Given the description of an element on the screen output the (x, y) to click on. 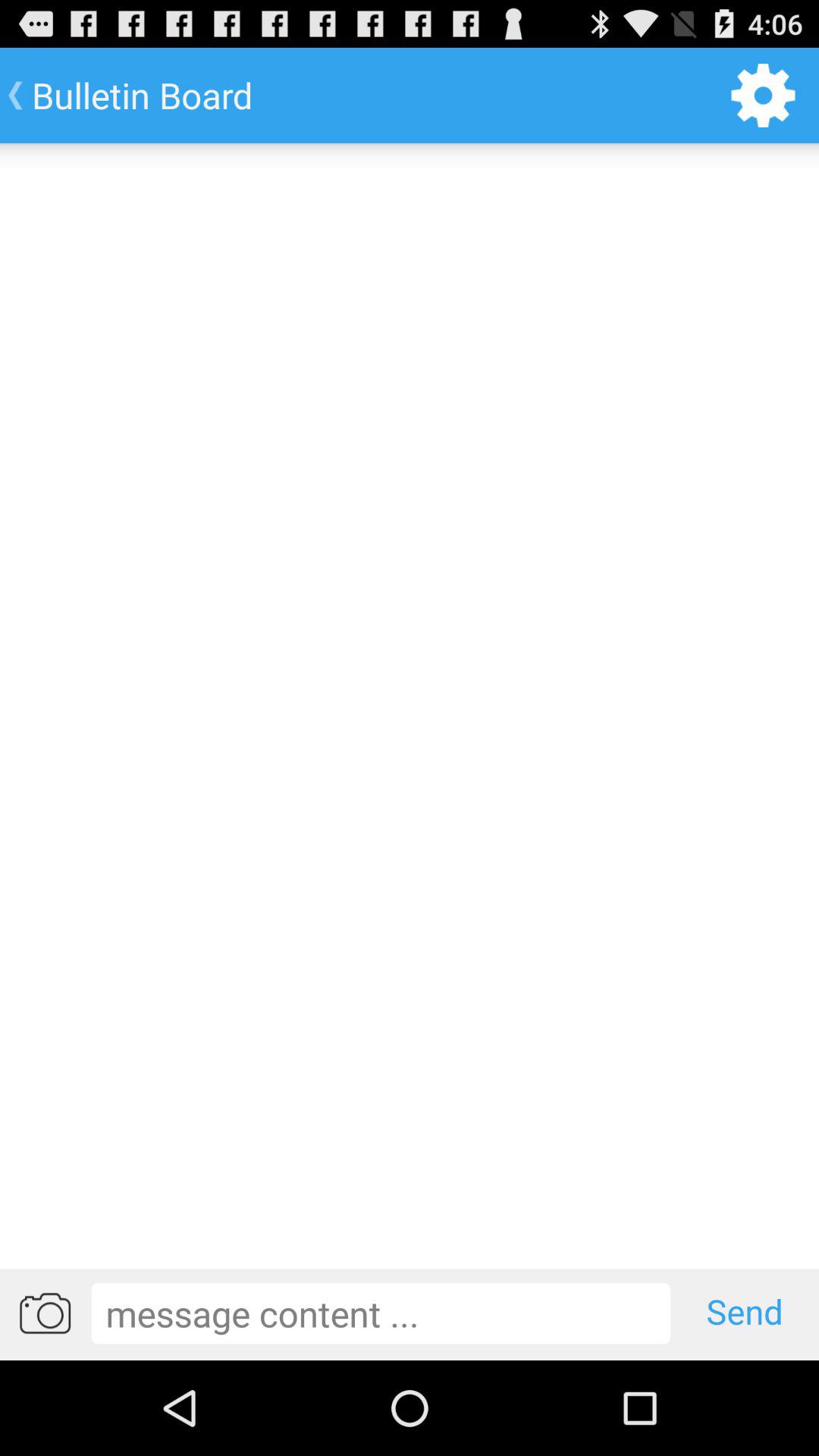
click the send app (744, 1312)
